Given the description of an element on the screen output the (x, y) to click on. 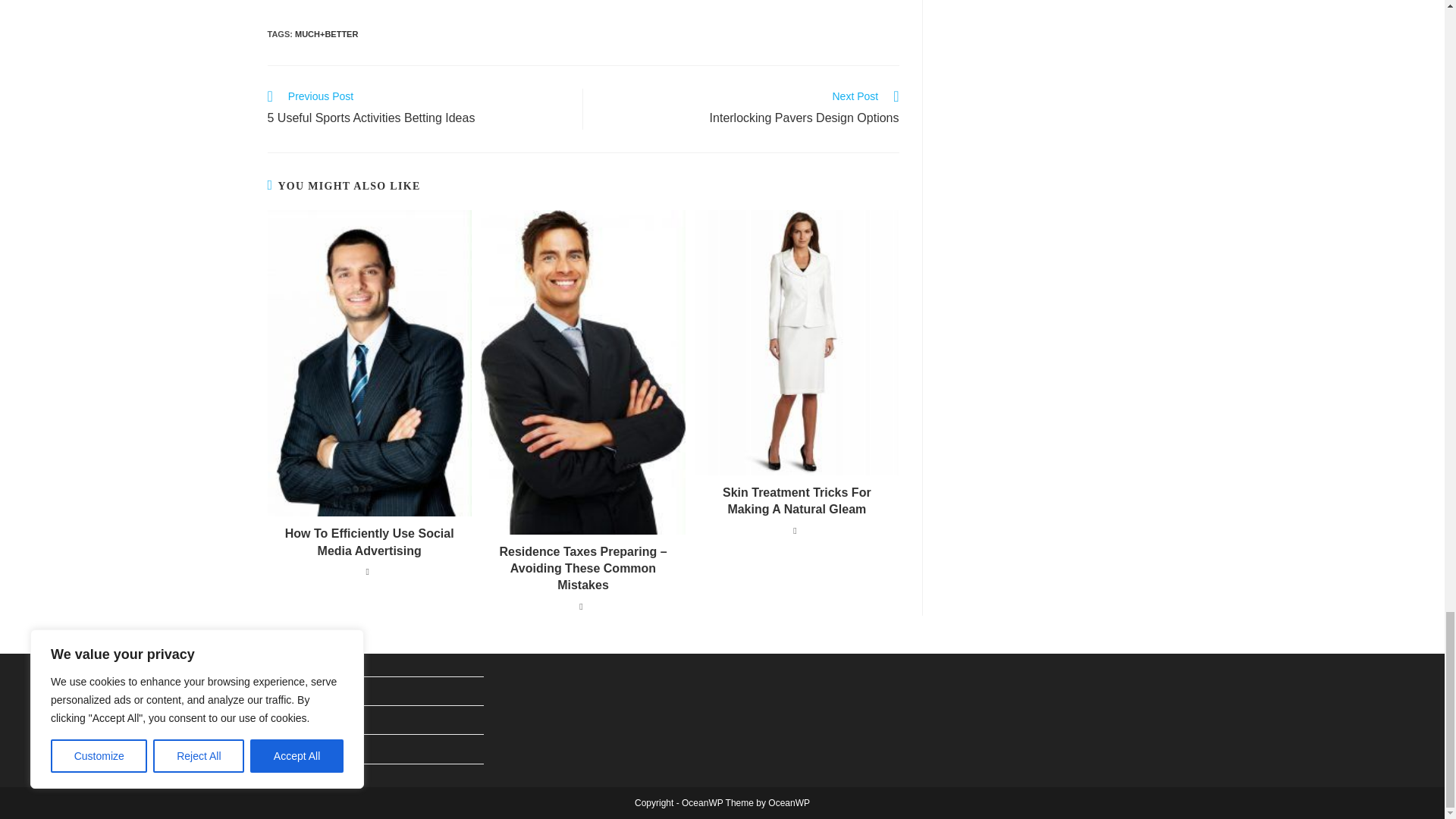
How To Efficiently Use Social Media Advertising (748, 108)
